Given the description of an element on the screen output the (x, y) to click on. 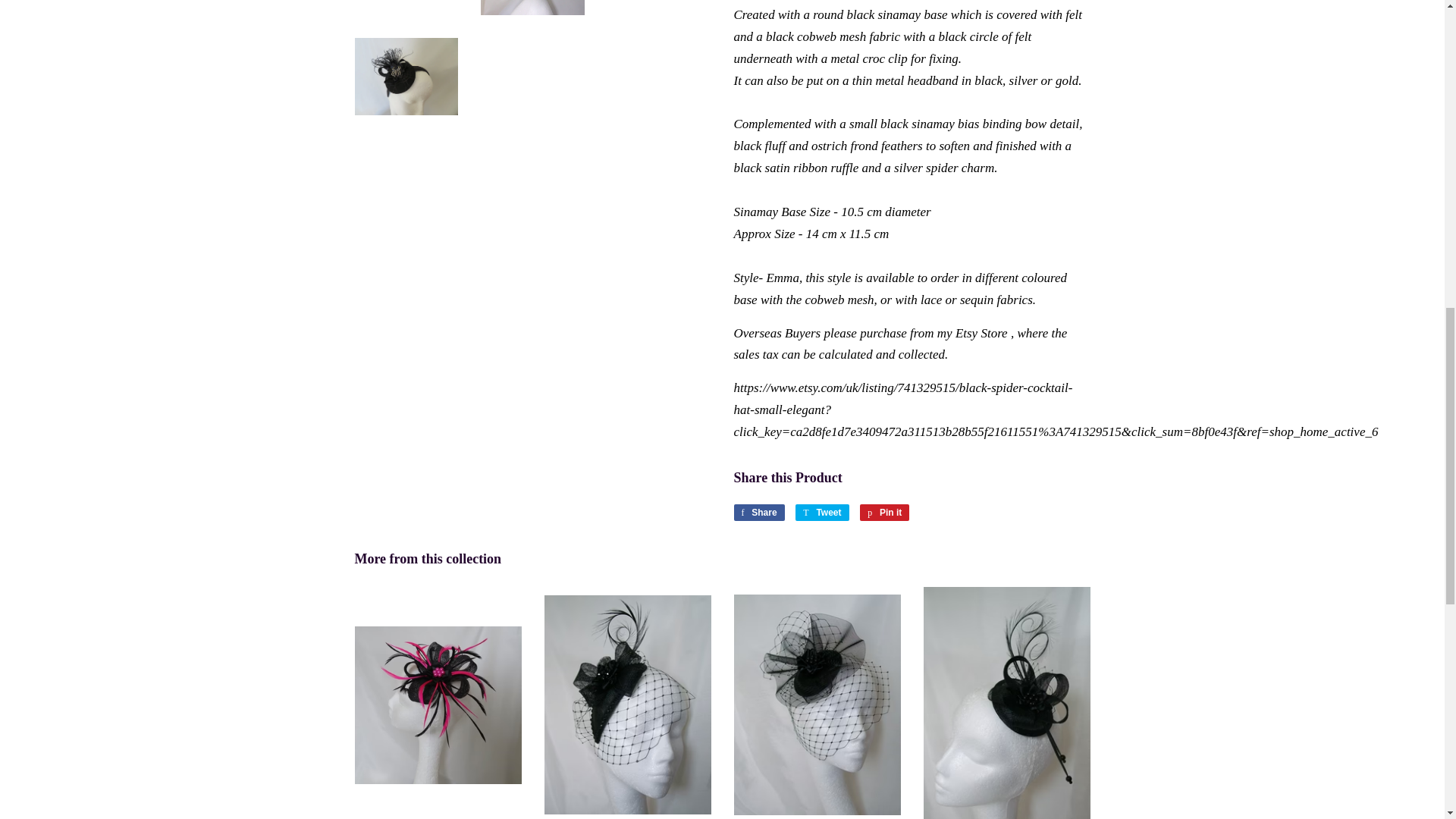
Share on Facebook (758, 512)
Tweet on Twitter (821, 512)
Pin on Pinterest (884, 512)
